Given the description of an element on the screen output the (x, y) to click on. 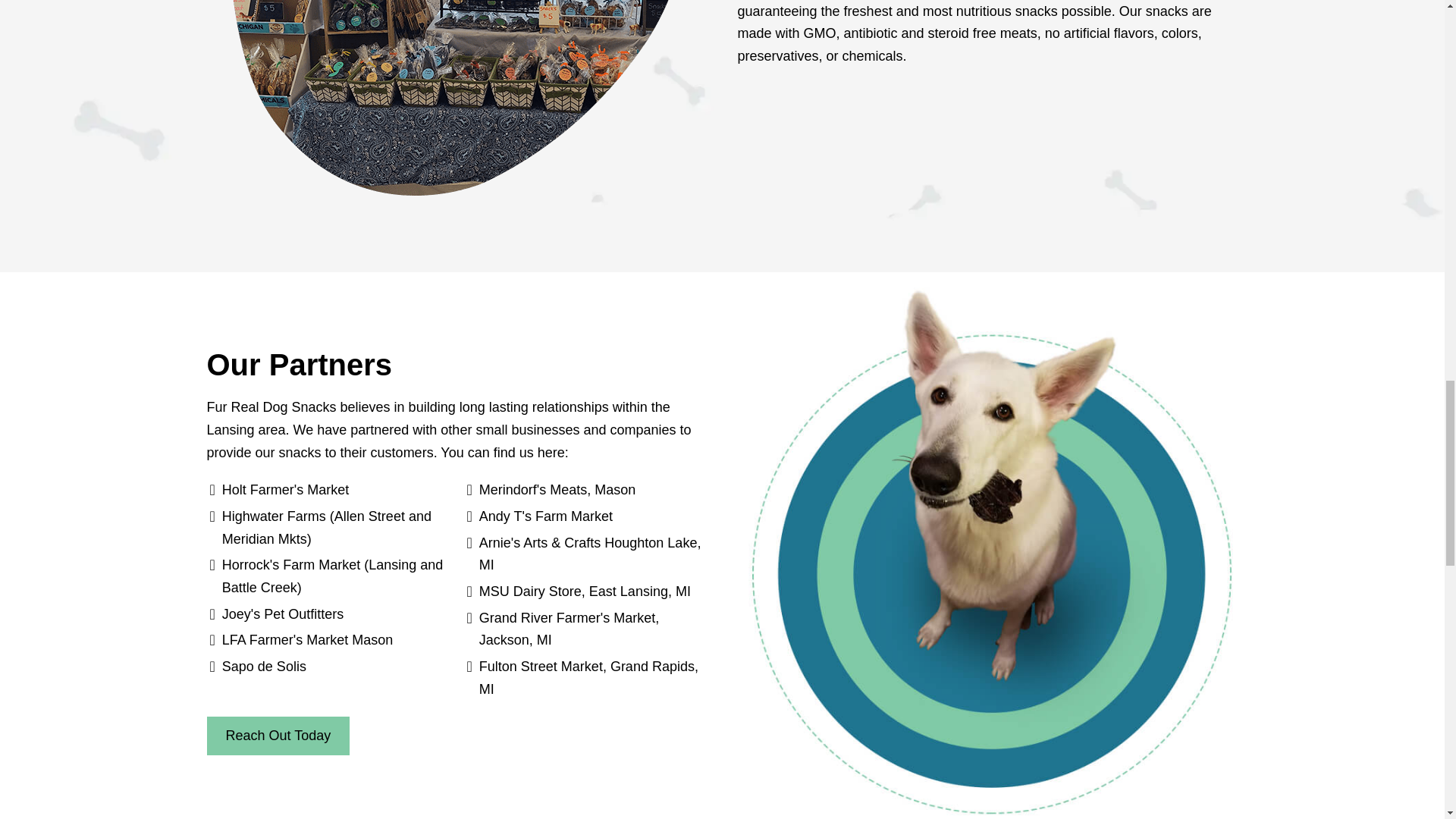
2 (457, 98)
Reach Out Today (277, 735)
